Given the description of an element on the screen output the (x, y) to click on. 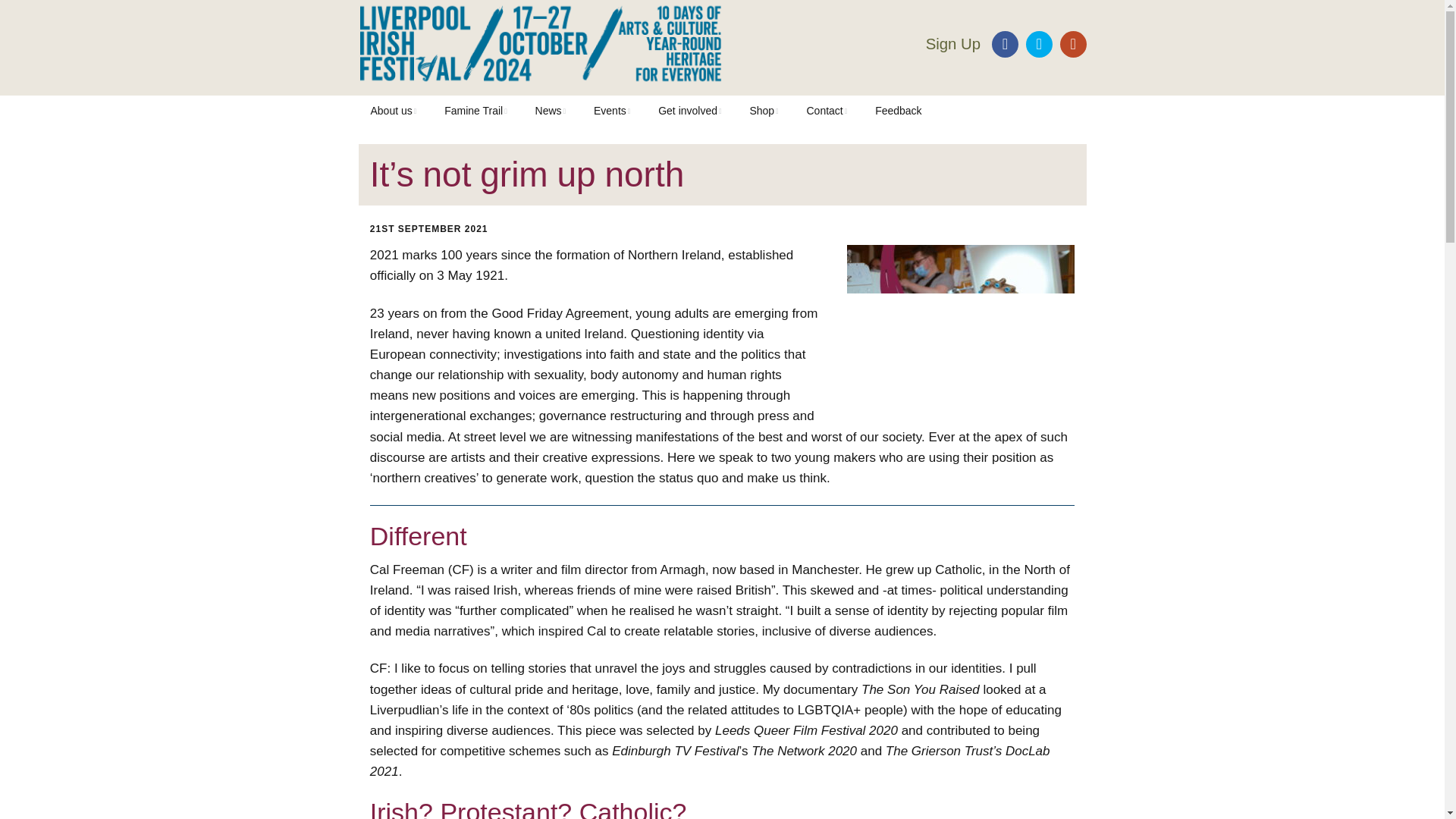
Get involved (689, 111)
News (550, 111)
Sign Up (953, 44)
About us (393, 111)
Events (611, 111)
Famine Trail (475, 111)
